Given the description of an element on the screen output the (x, y) to click on. 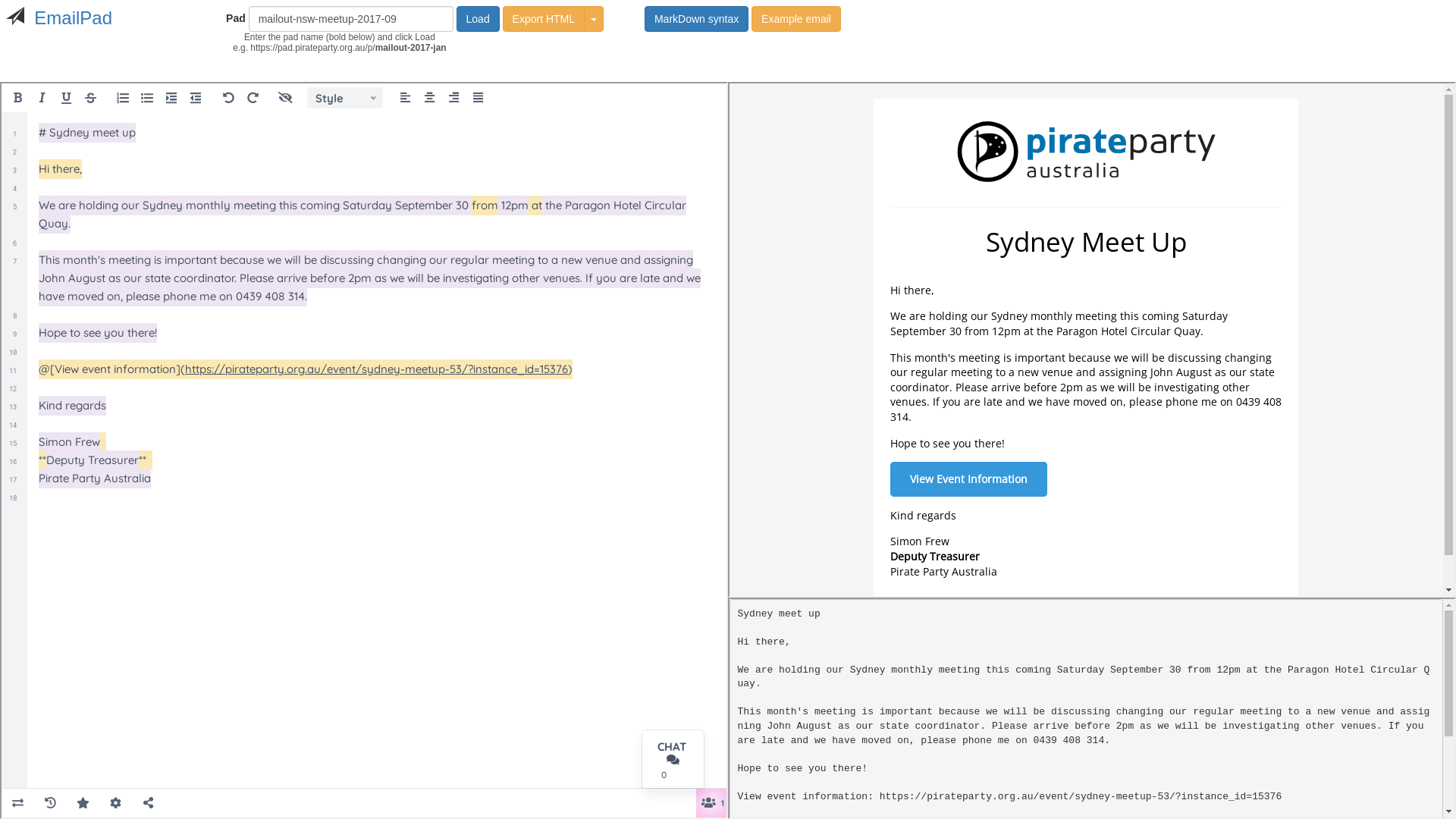
Toggle Dropdown Element type: text (593, 18)
MarkDown syntax Element type: text (696, 18)
Load Element type: text (477, 18)
Export HTML Element type: text (543, 18)
Example email Element type: text (795, 18)
EmailPad Element type: text (73, 17)
